Given the description of an element on the screen output the (x, y) to click on. 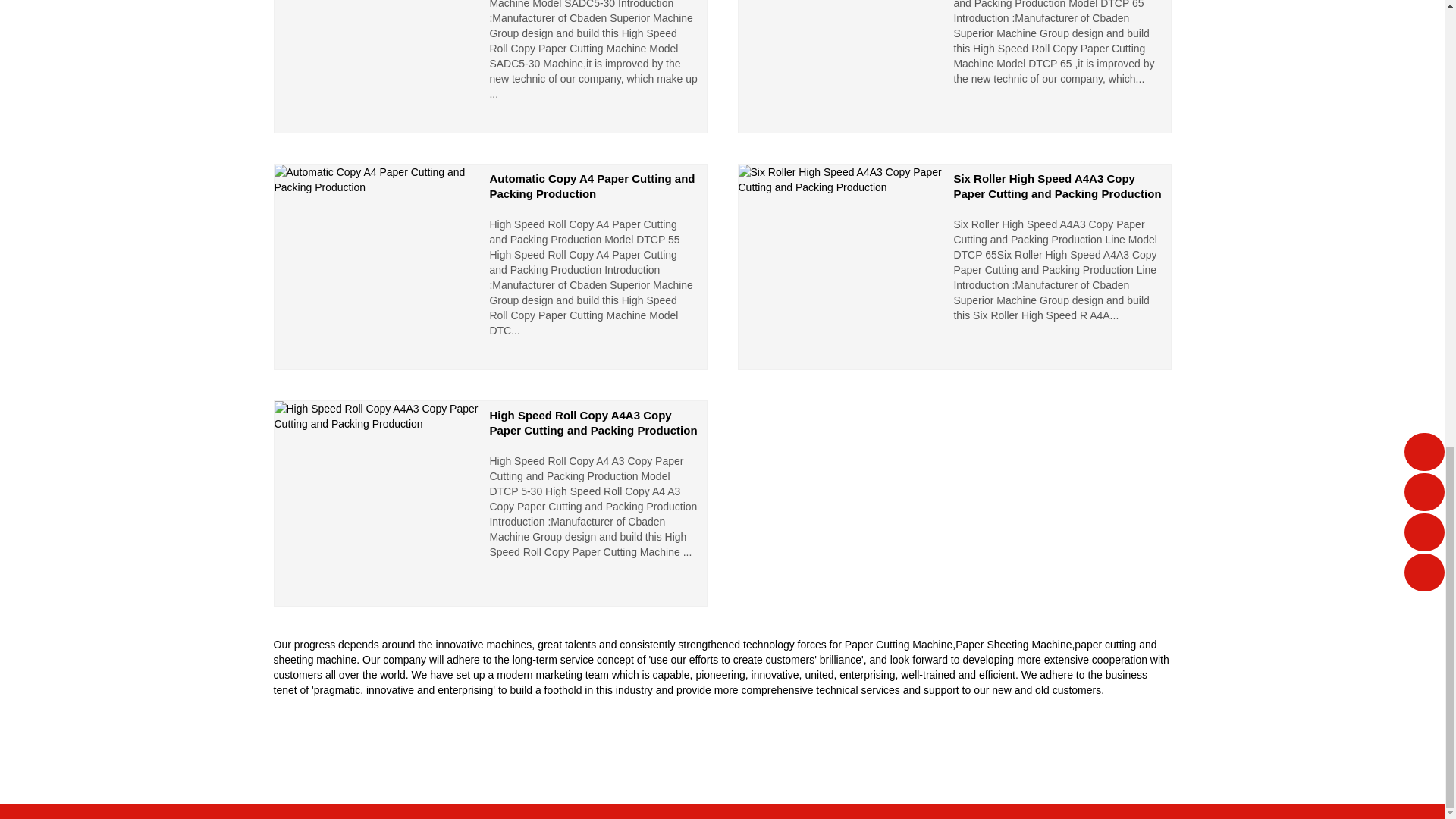
Automatic Copy A4 Paper Cutting and Packing Production (489, 266)
High Speed Roll Copy Paper Cutting Machine (489, 66)
High Speed Roll Copy A4 Paper Cutting and Packing Production (953, 66)
